Given the description of an element on the screen output the (x, y) to click on. 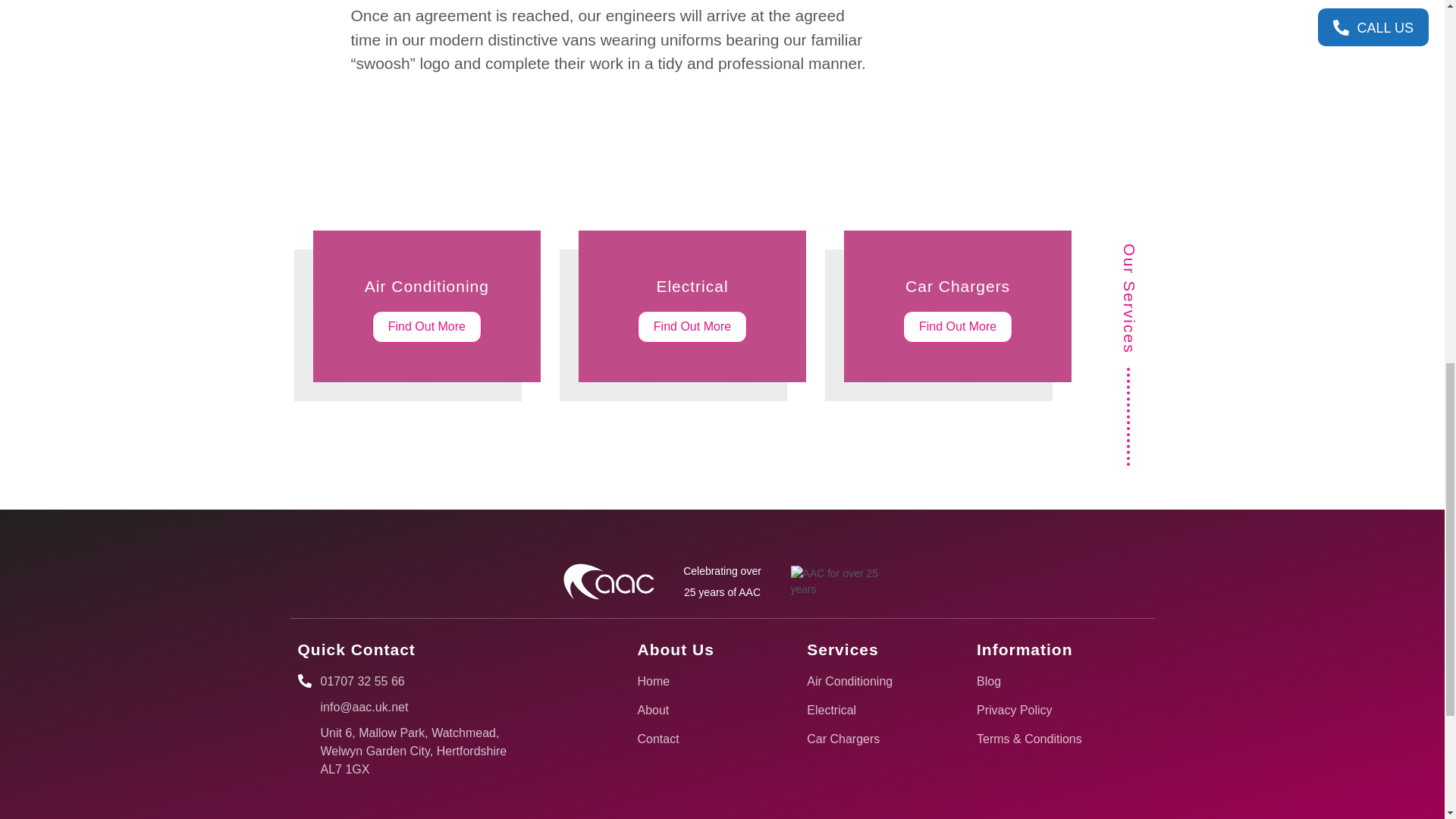
01707 32 55 66 (416, 681)
Contact (957, 306)
Electrical (696, 739)
Air Conditioning (866, 710)
Privacy Policy (866, 681)
Home (1036, 710)
About (696, 681)
Blog (696, 710)
